Given the description of an element on the screen output the (x, y) to click on. 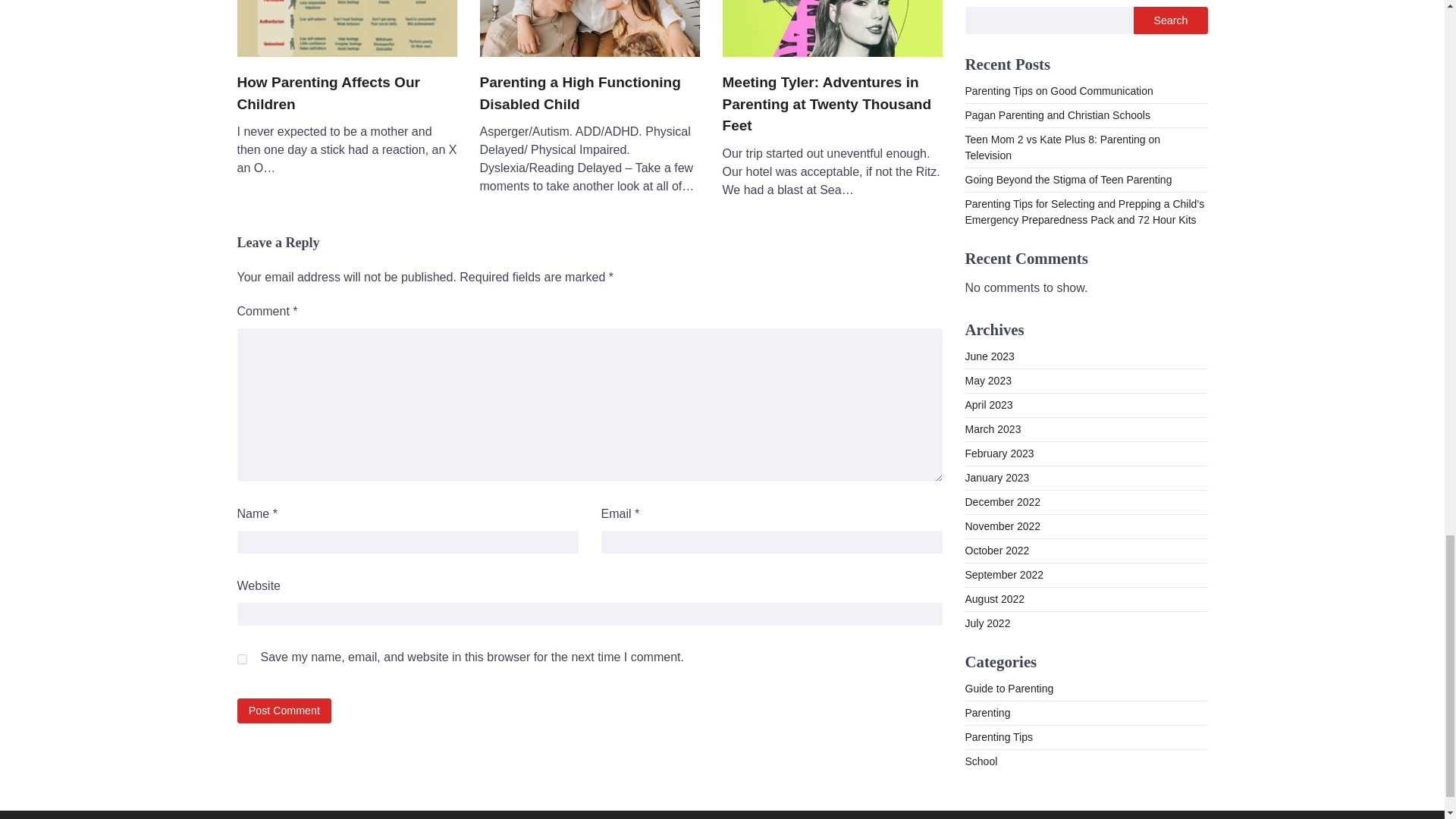
How Parenting Affects Our Children (346, 93)
yes (240, 659)
Parenting a High Functioning Disabled Child (588, 93)
Post Comment (283, 710)
Post Comment (283, 710)
